Given the description of an element on the screen output the (x, y) to click on. 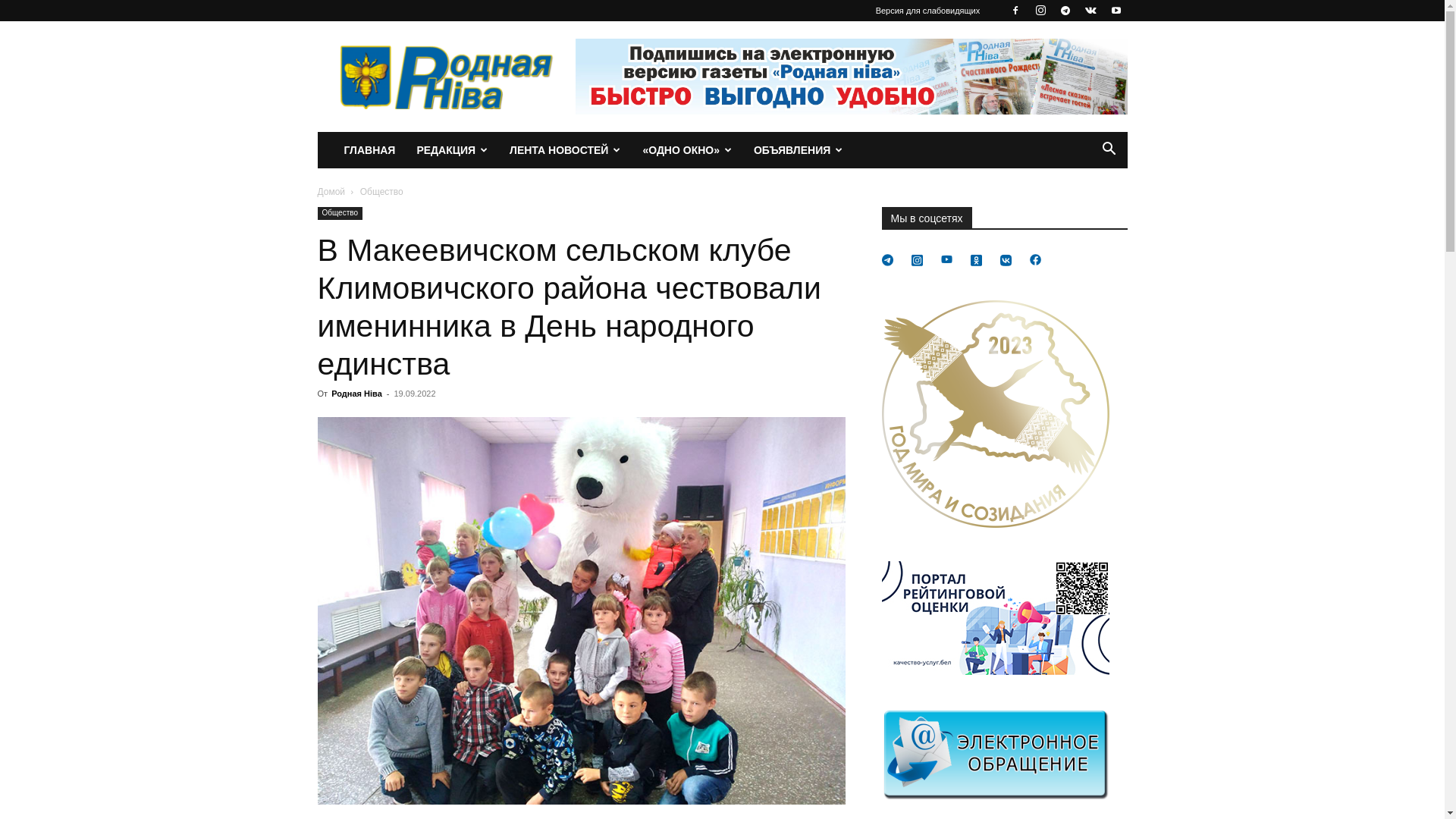
Telegram Element type: hover (1065, 10)
Instagram Element type: hover (1040, 10)
Youtube Element type: hover (1115, 10)
VKontakte Element type: hover (1090, 10)
Facebook Element type: hover (1015, 10)
